Given the description of an element on the screen output the (x, y) to click on. 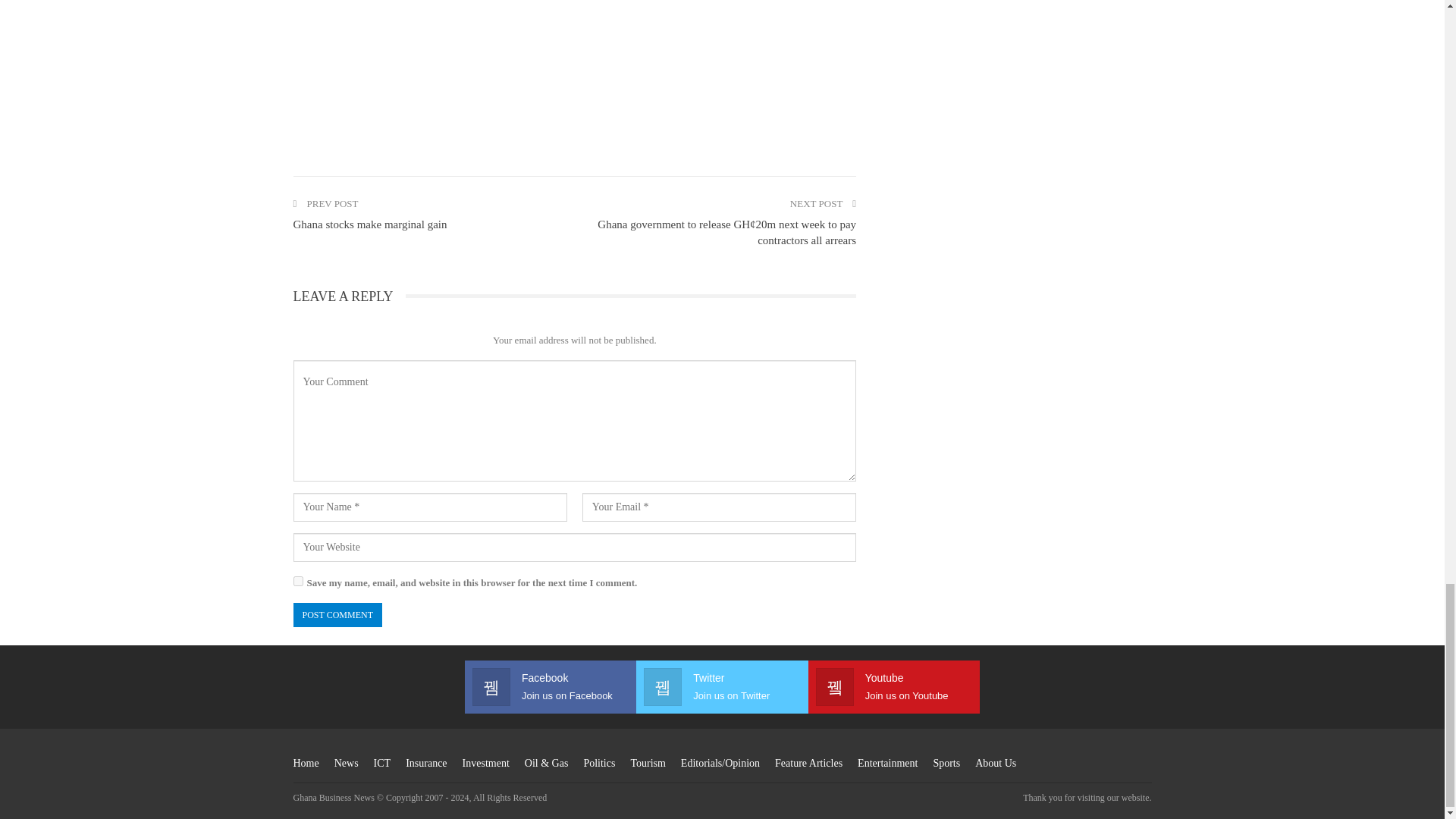
Post Comment (336, 615)
Ghana stocks make marginal gain (369, 224)
yes (297, 581)
Post Comment (336, 615)
